Given the description of an element on the screen output the (x, y) to click on. 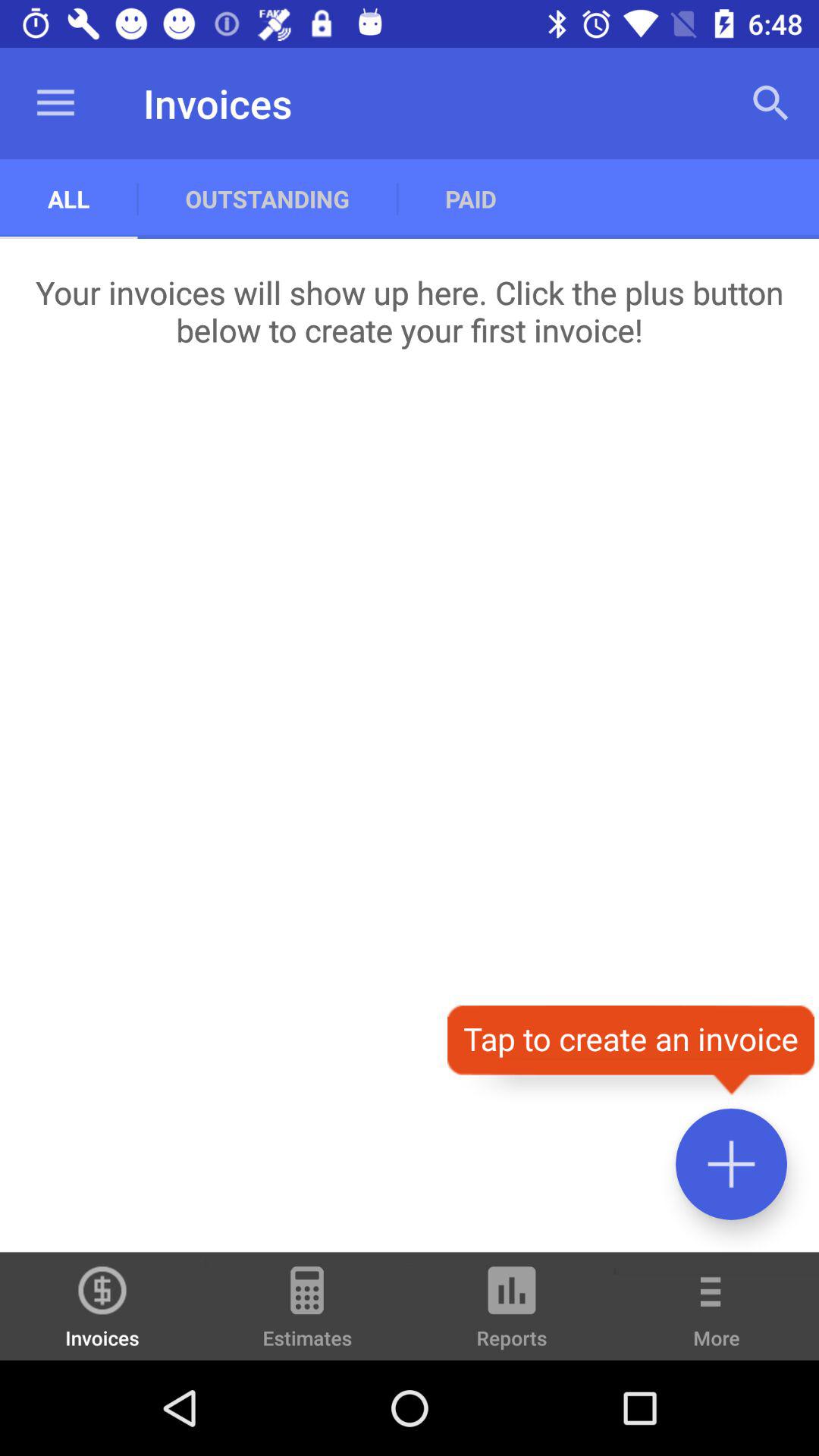
creat invoice (731, 1163)
